Given the description of an element on the screen output the (x, y) to click on. 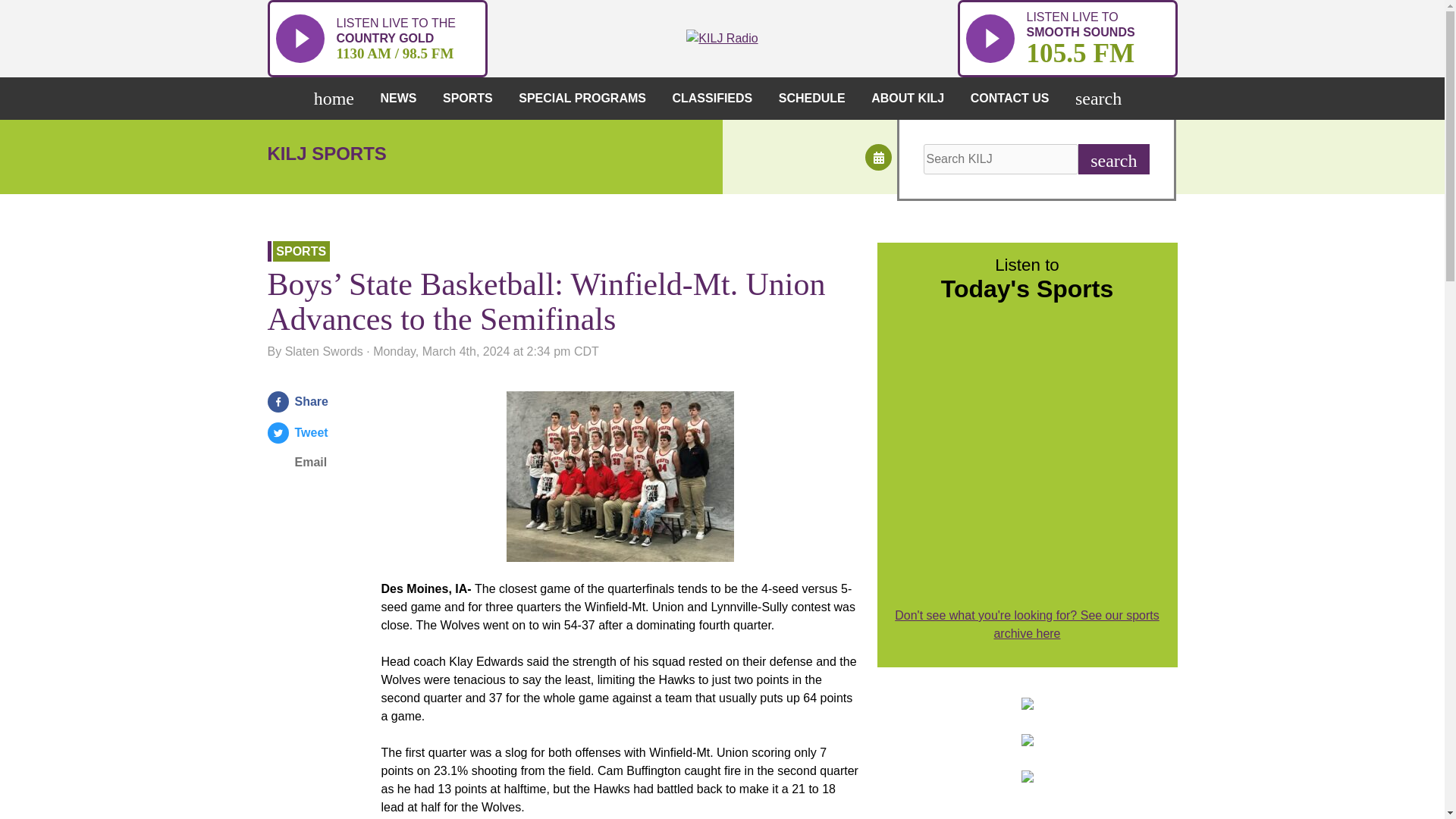
SPORTS (472, 97)
NEWS (402, 97)
SPECIAL PROGRAMS (1066, 38)
home (587, 97)
